Given the description of an element on the screen output the (x, y) to click on. 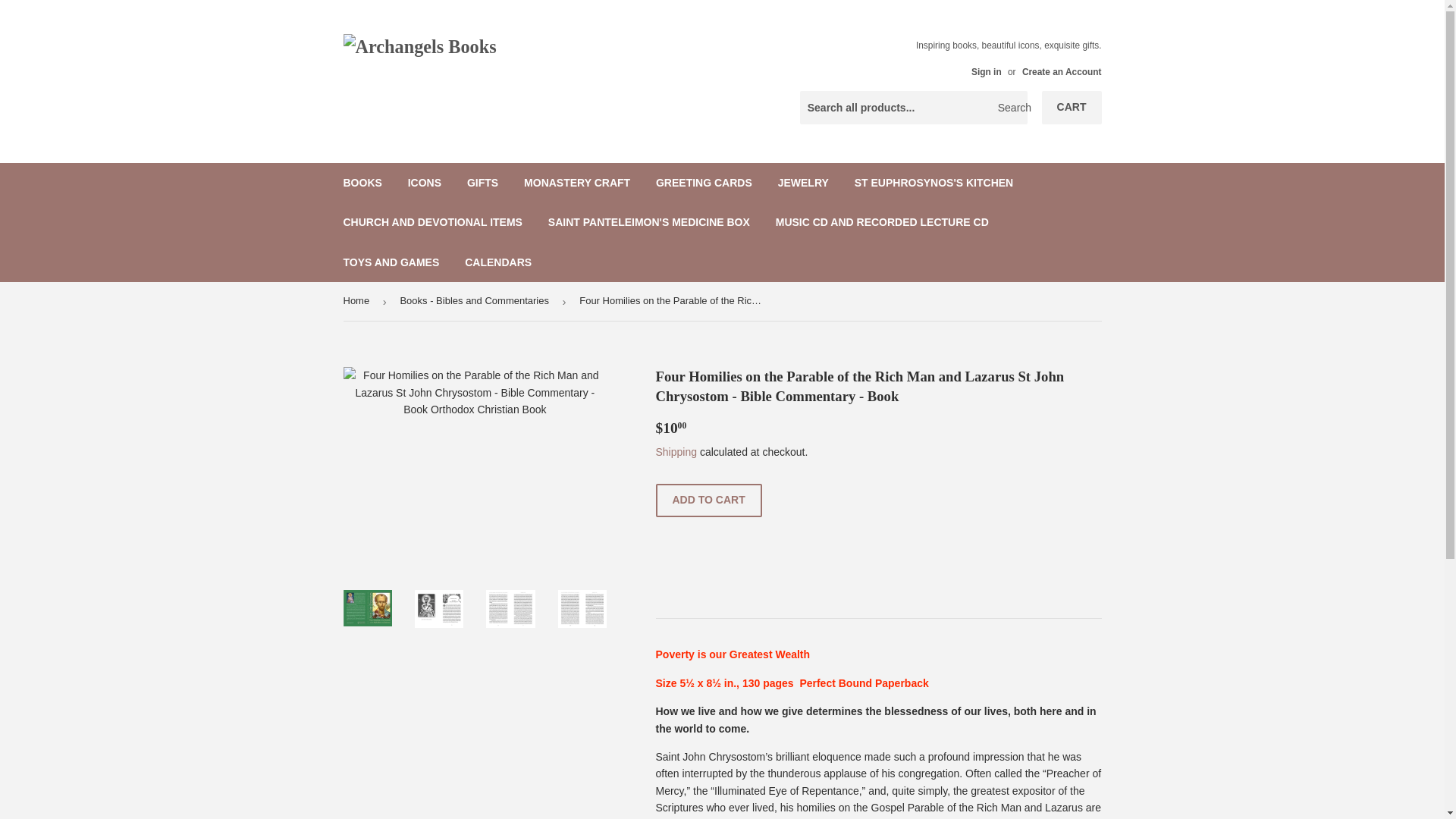
CART (1072, 107)
Sign in (986, 71)
Search (1009, 108)
Create an Account (1062, 71)
